Given the description of an element on the screen output the (x, y) to click on. 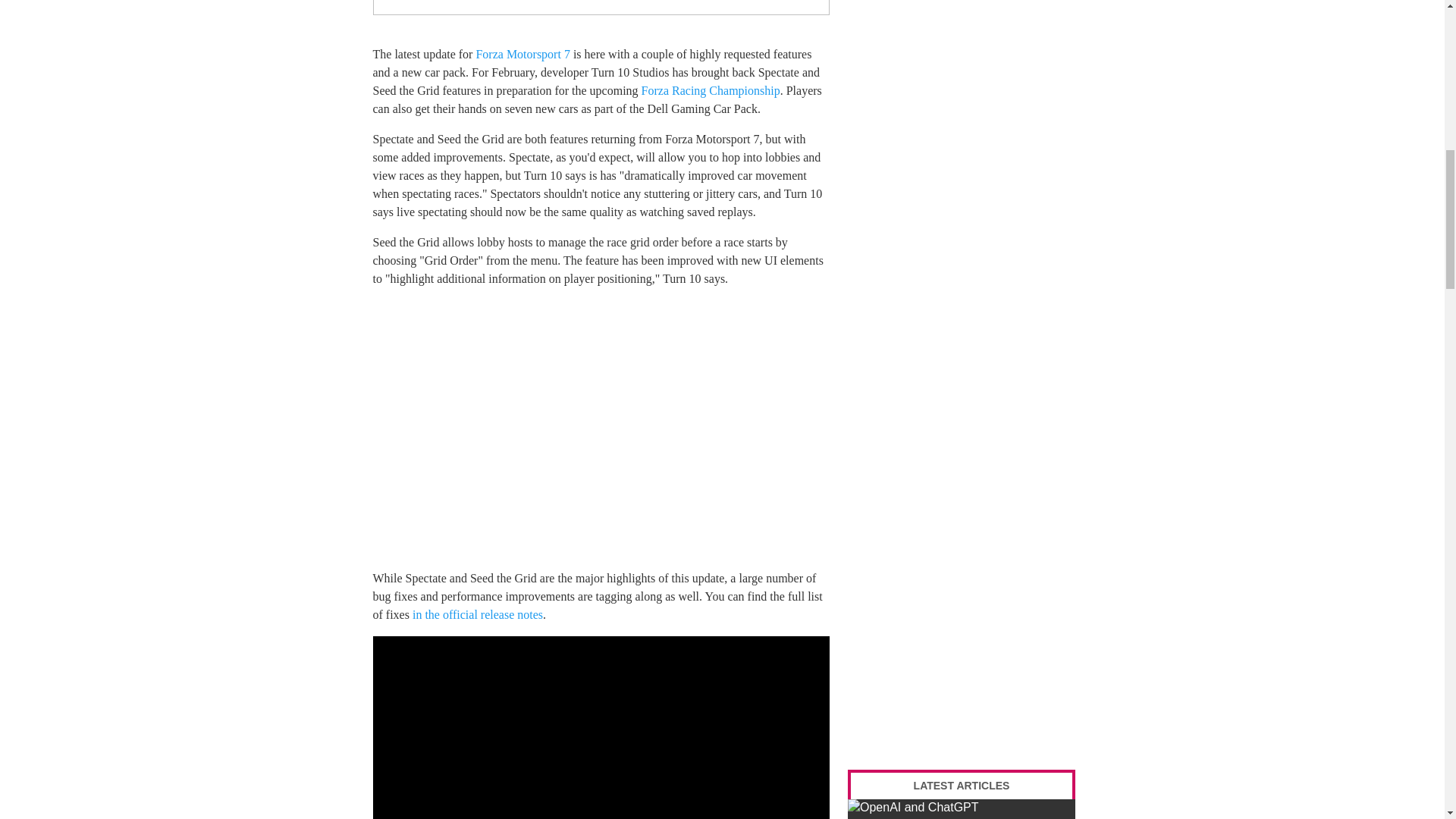
in the official release notes (477, 614)
Forza Racing Championship (711, 90)
Forza Motorsport 7 (522, 53)
